Given the description of an element on the screen output the (x, y) to click on. 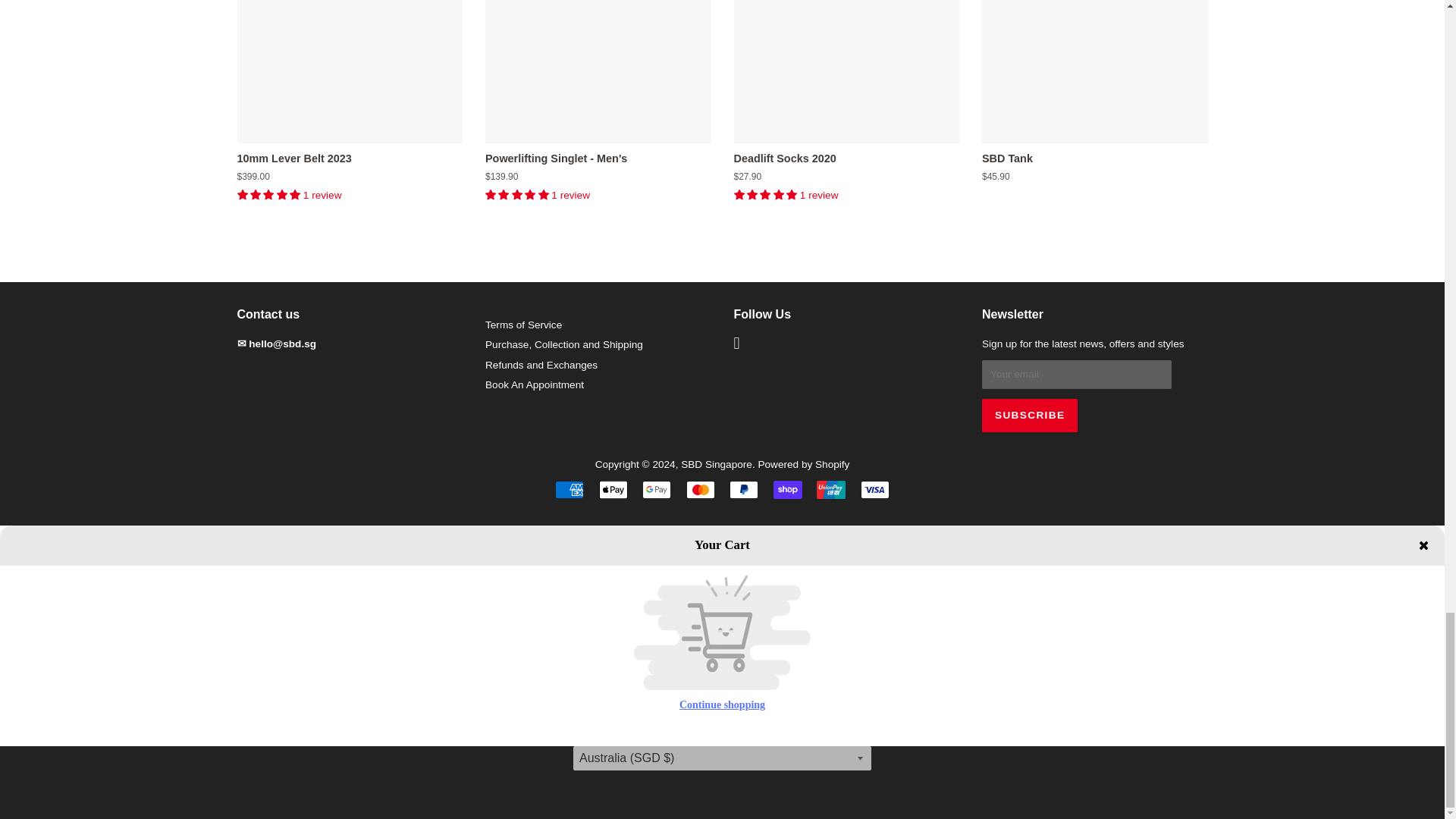
Visa (874, 489)
Apple Pay (612, 489)
American Express (568, 489)
Shop Pay (787, 489)
Union Pay (830, 489)
Mastercard (699, 489)
Subscribe (1029, 415)
Google Pay (656, 489)
PayPal (743, 489)
